Given the description of an element on the screen output the (x, y) to click on. 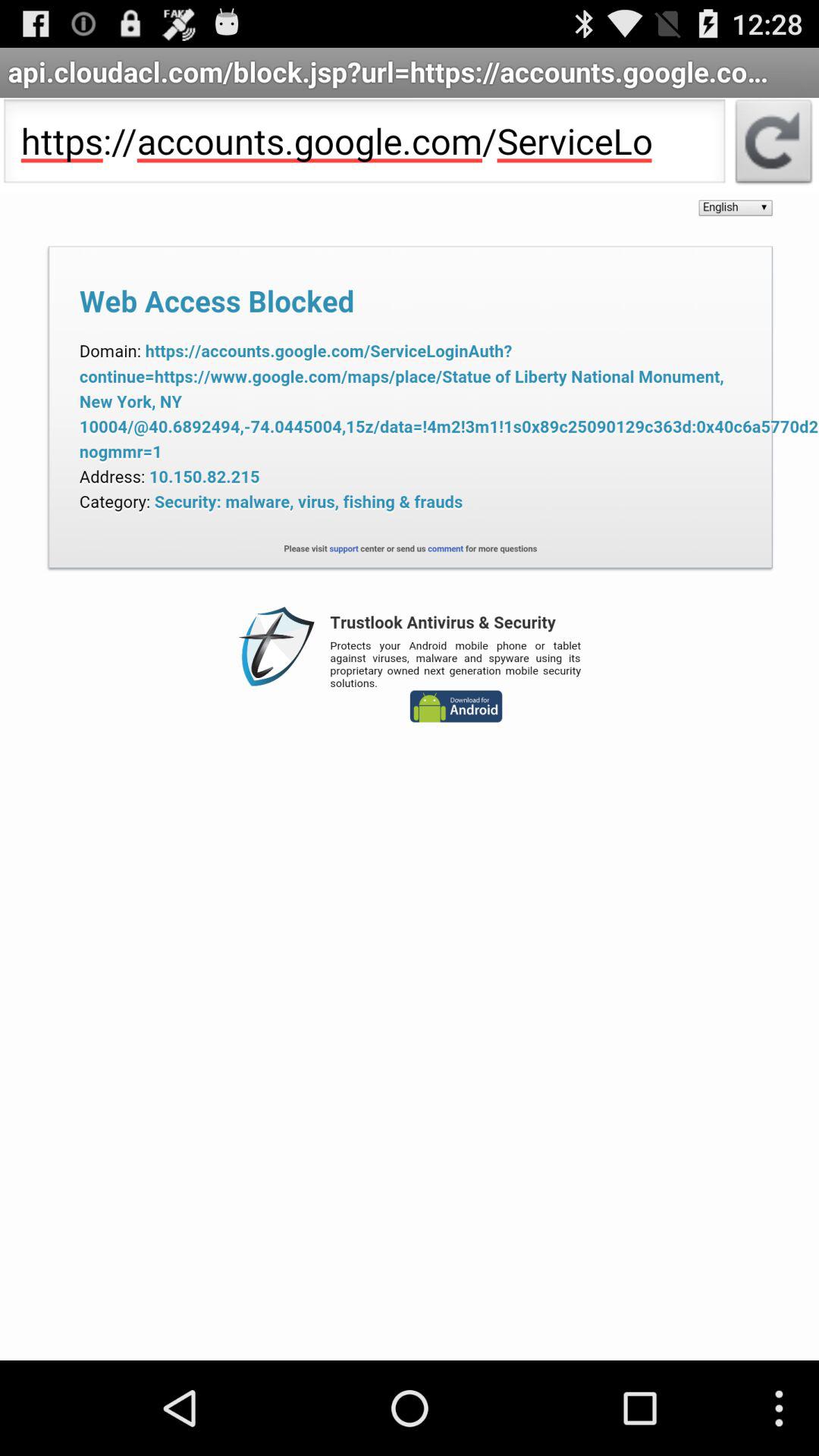
refresh (774, 145)
